Given the description of an element on the screen output the (x, y) to click on. 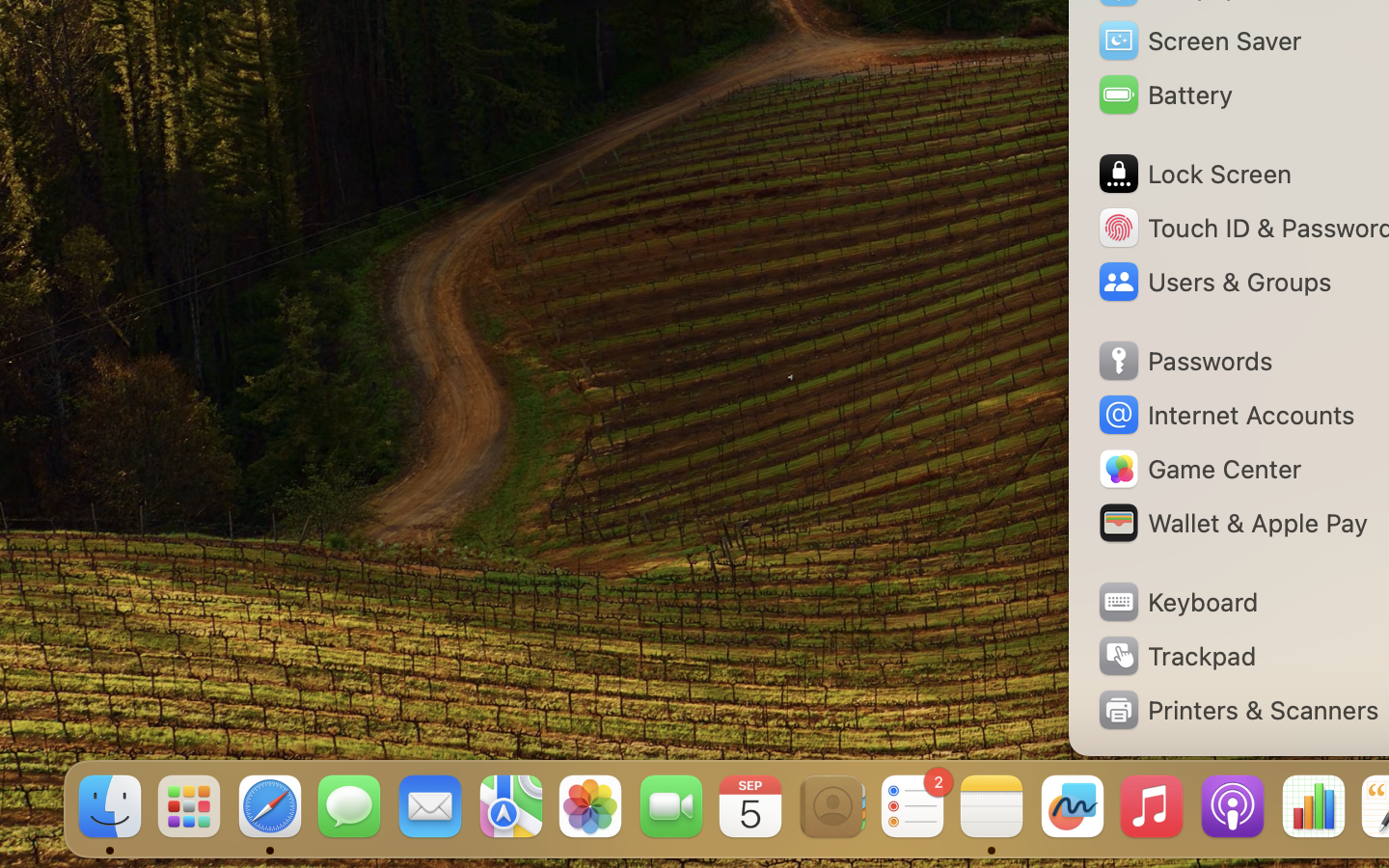
Keyboard Element type: AXStaticText (1176, 601)
